Given the description of an element on the screen output the (x, y) to click on. 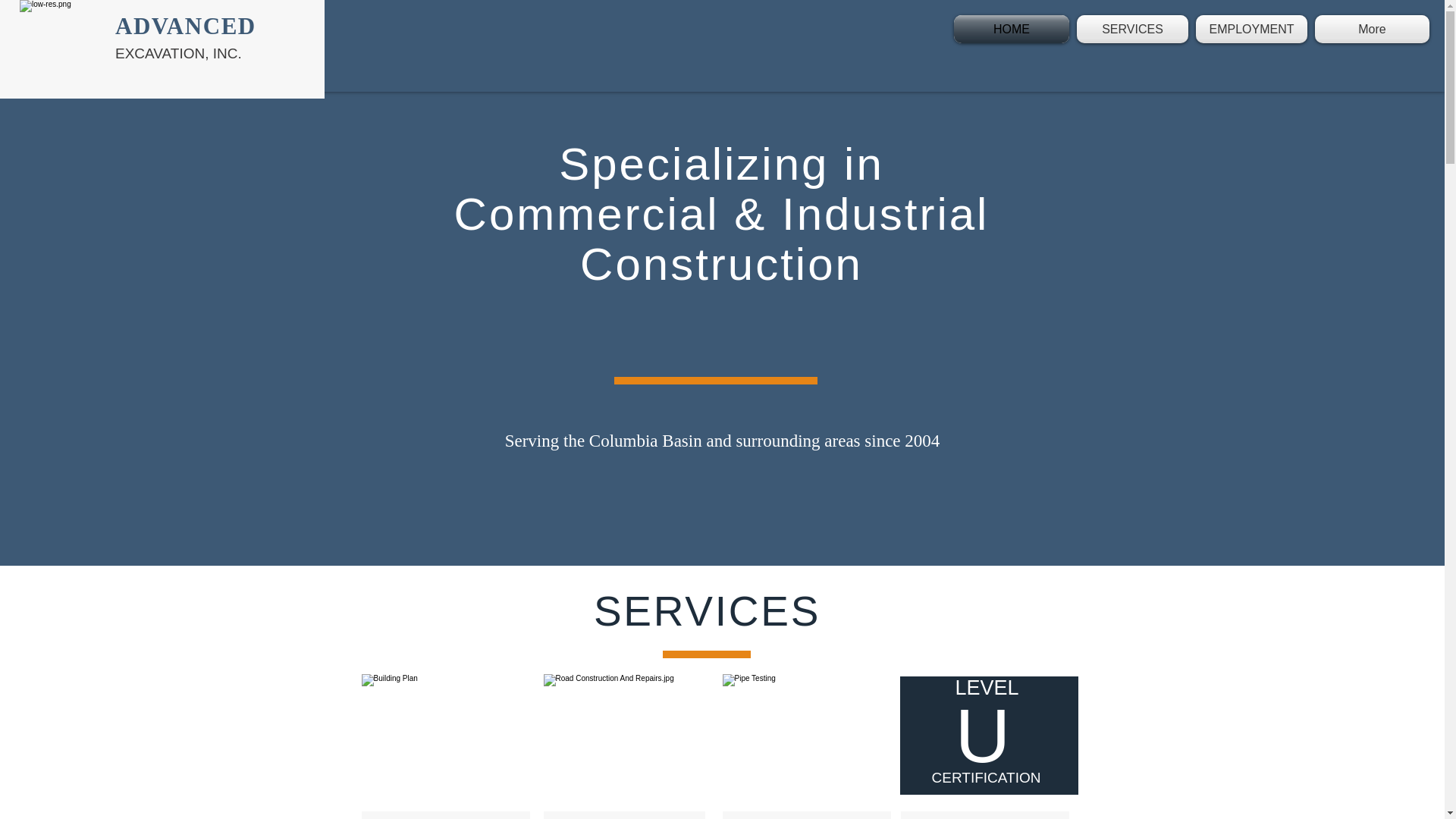
SERVICES (1132, 29)
EMPLOYMENT (1251, 29)
ADVANCED (185, 26)
HOME (1013, 29)
